Given the description of an element on the screen output the (x, y) to click on. 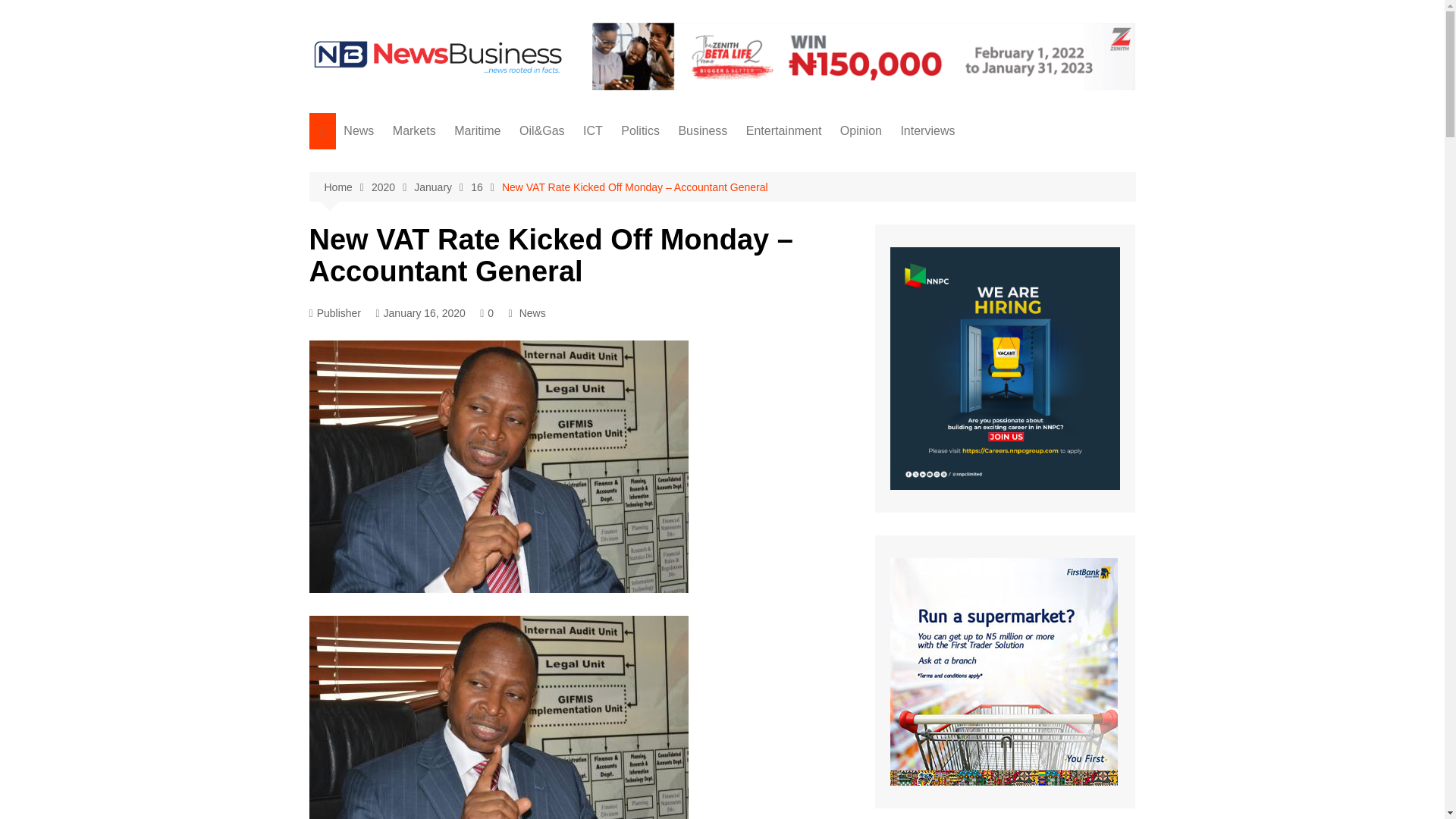
Business (702, 131)
January (441, 187)
Markets (414, 131)
Shipping (529, 186)
News (358, 131)
Agriculture (419, 186)
Interviews (927, 131)
Entertainment (783, 131)
Money Market (468, 161)
Energy (753, 186)
Manufacturing (753, 211)
Labour (419, 161)
Maritime (477, 131)
Investment Tips (920, 236)
Politics (639, 131)
